Given the description of an element on the screen output the (x, y) to click on. 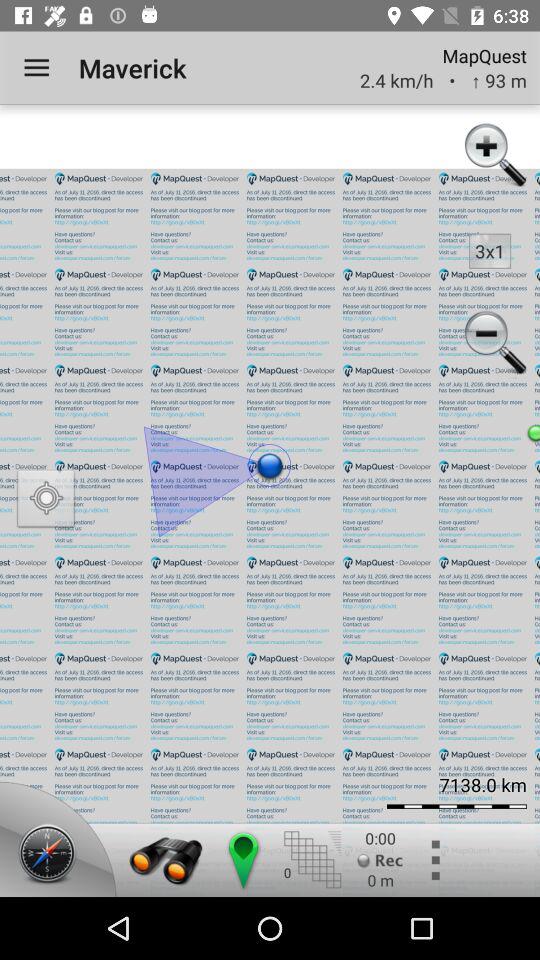
open recorded details (380, 860)
